Given the description of an element on the screen output the (x, y) to click on. 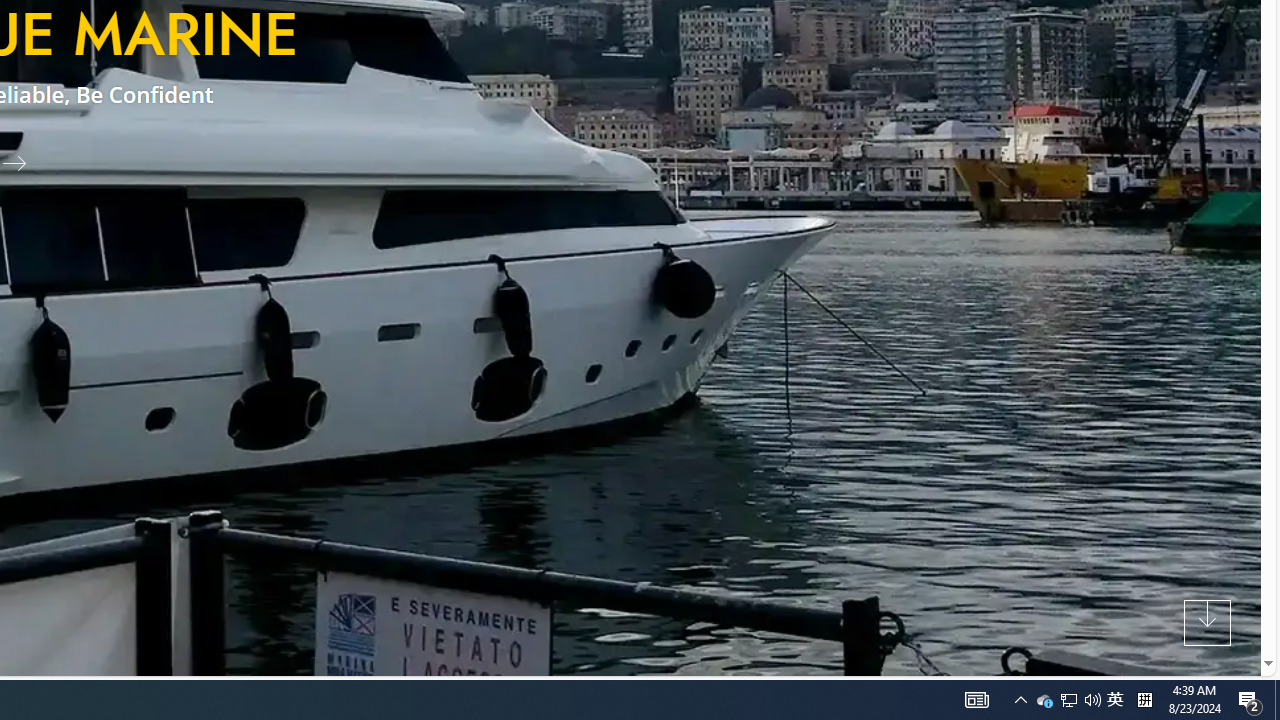
Next Slide (22, 161)
Next Section (1207, 622)
